Given the description of an element on the screen output the (x, y) to click on. 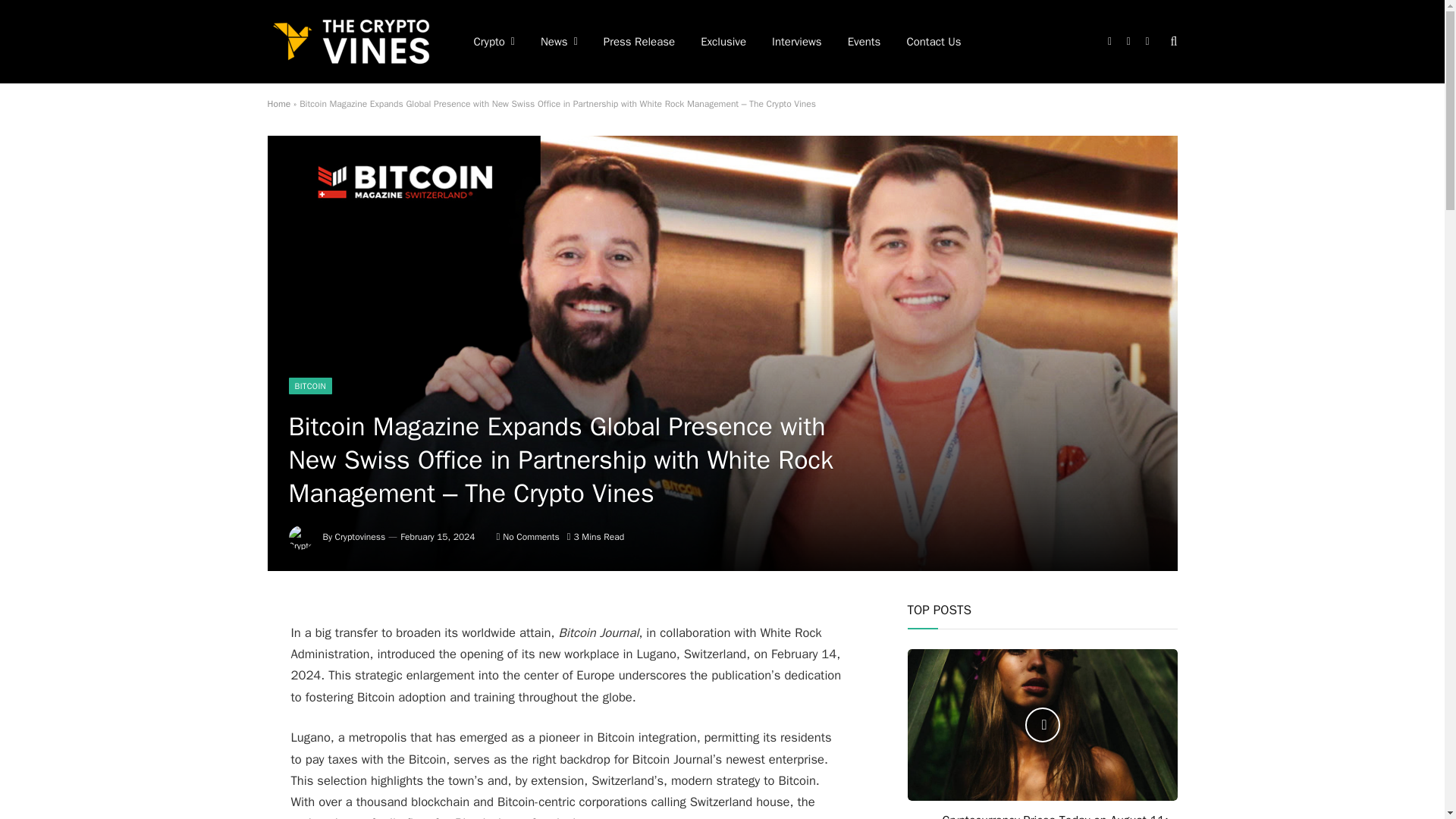
Interviews (796, 41)
Posts by Cryptoviness (359, 536)
Press Release (639, 41)
